Given the description of an element on the screen output the (x, y) to click on. 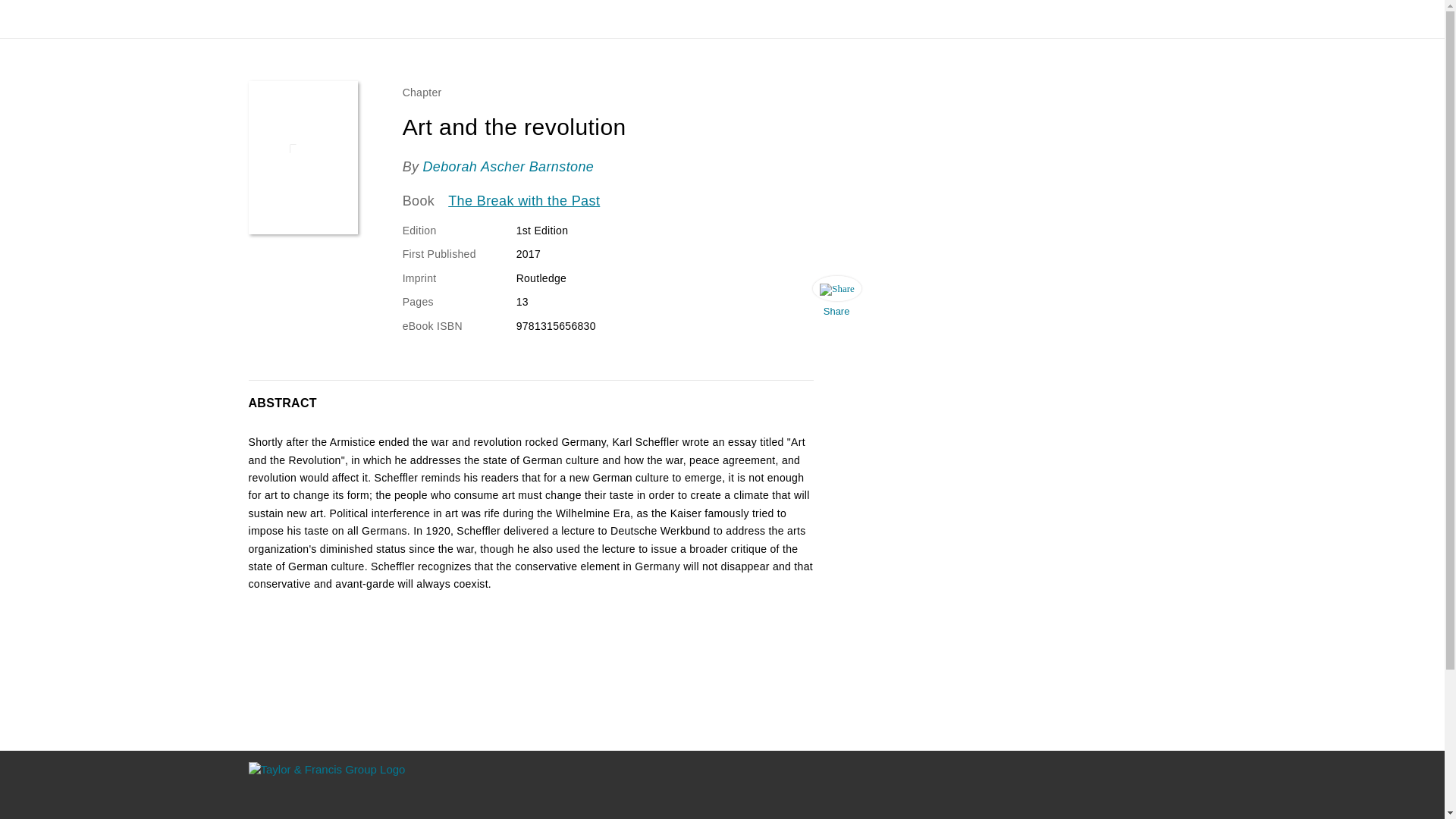
Share (836, 299)
The Break with the Past (523, 201)
Deborah Ascher Barnstone (508, 166)
